Given the description of an element on the screen output the (x, y) to click on. 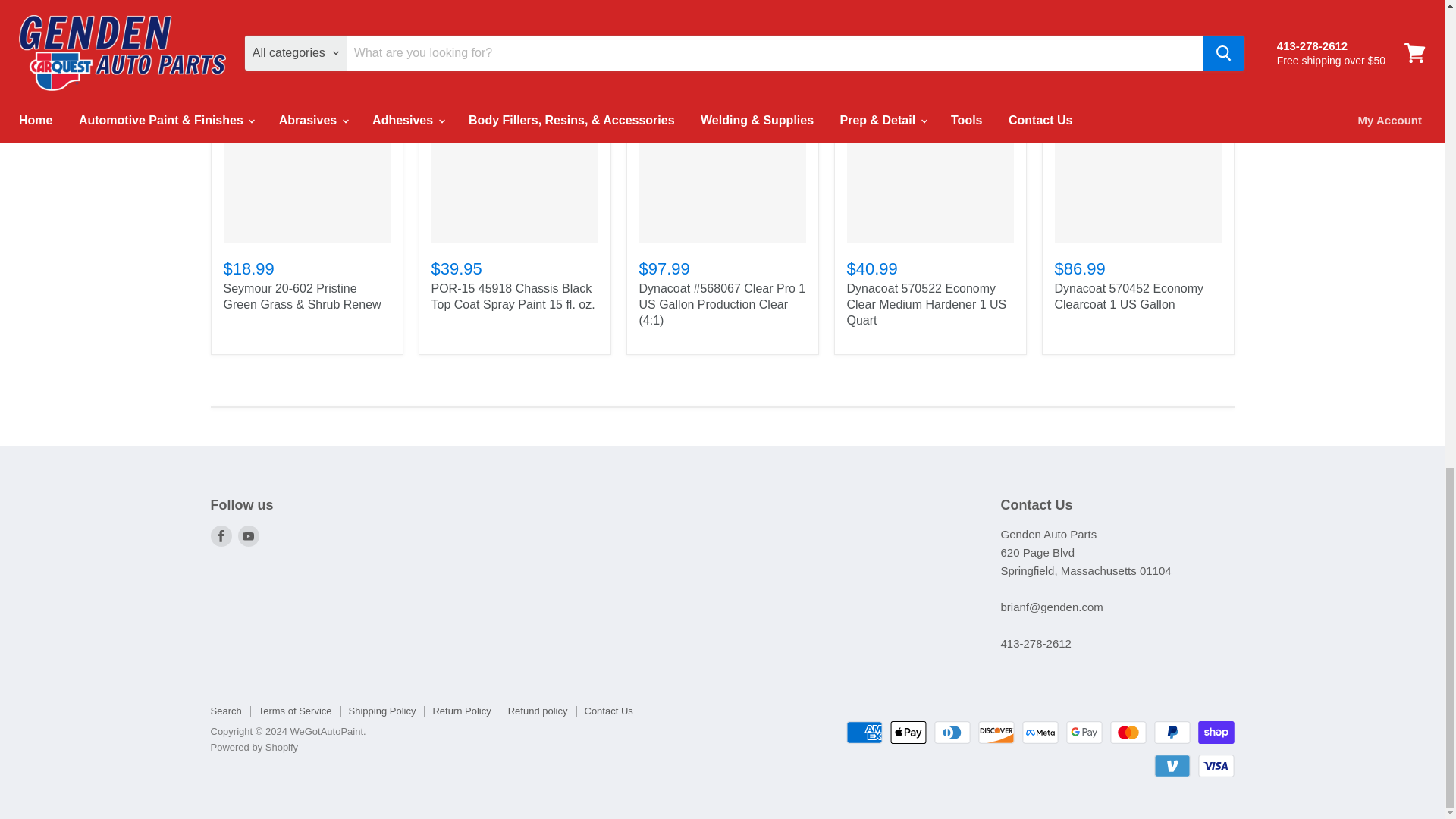
American Express (863, 732)
Apple Pay (907, 732)
Youtube (248, 536)
Facebook (221, 536)
Diners Club (952, 732)
